Given the description of an element on the screen output the (x, y) to click on. 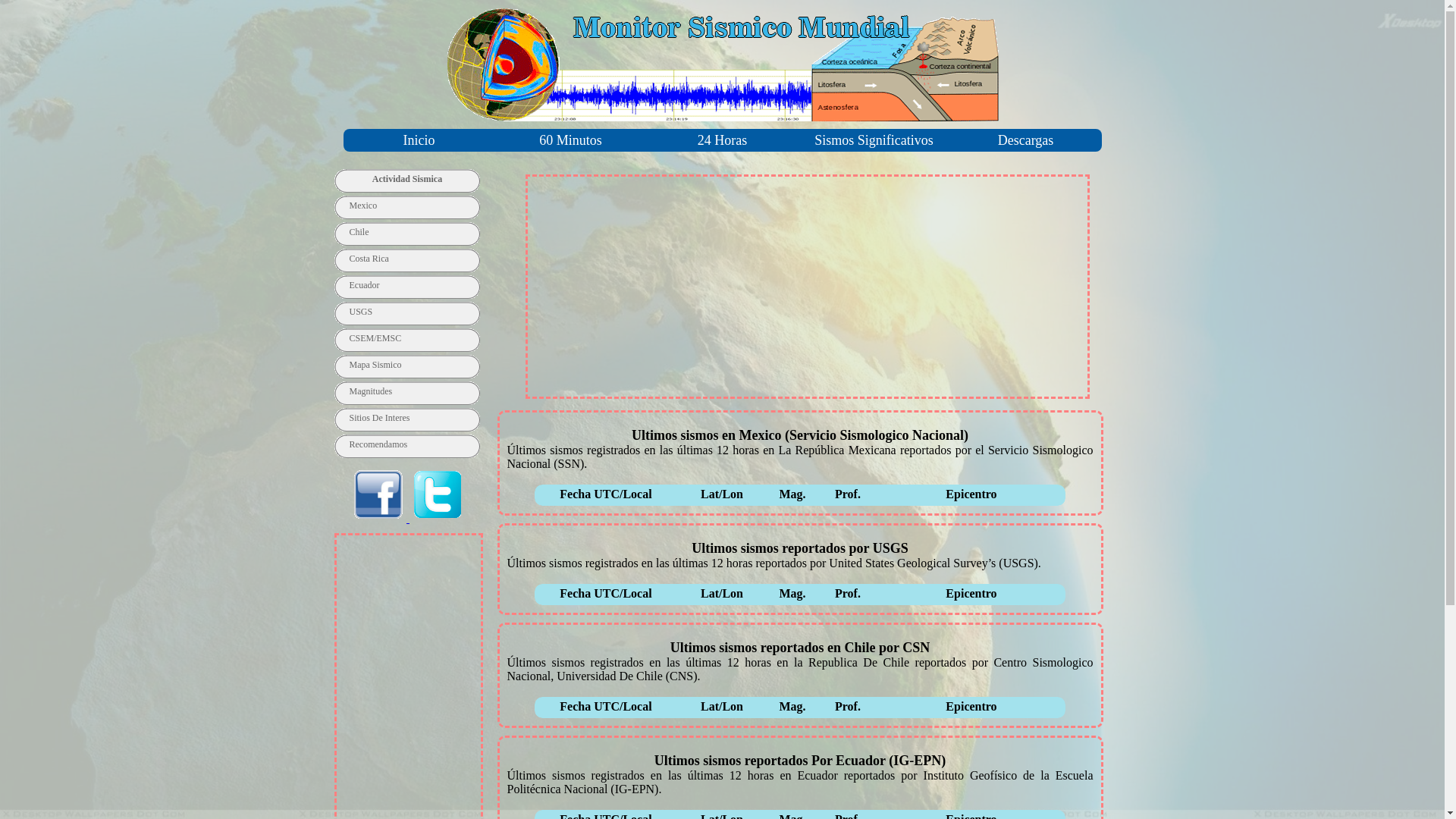
Recursos Web Element type: text (355, 18)
Siguenos en twitter @MonitorSismico Element type: hover (437, 517)
Proyectos Element type: text (448, 18)
Magdalena Jalisco Element type: text (162, 18)
MGDNetwork Element type: text (50, 18)
Siguenos en Facebook Monitor Sismico Element type: hover (379, 517)
Portafolios Element type: text (535, 18)
Servicios Element type: text (263, 18)
Otros Dominios Element type: text (635, 18)
